Given the description of an element on the screen output the (x, y) to click on. 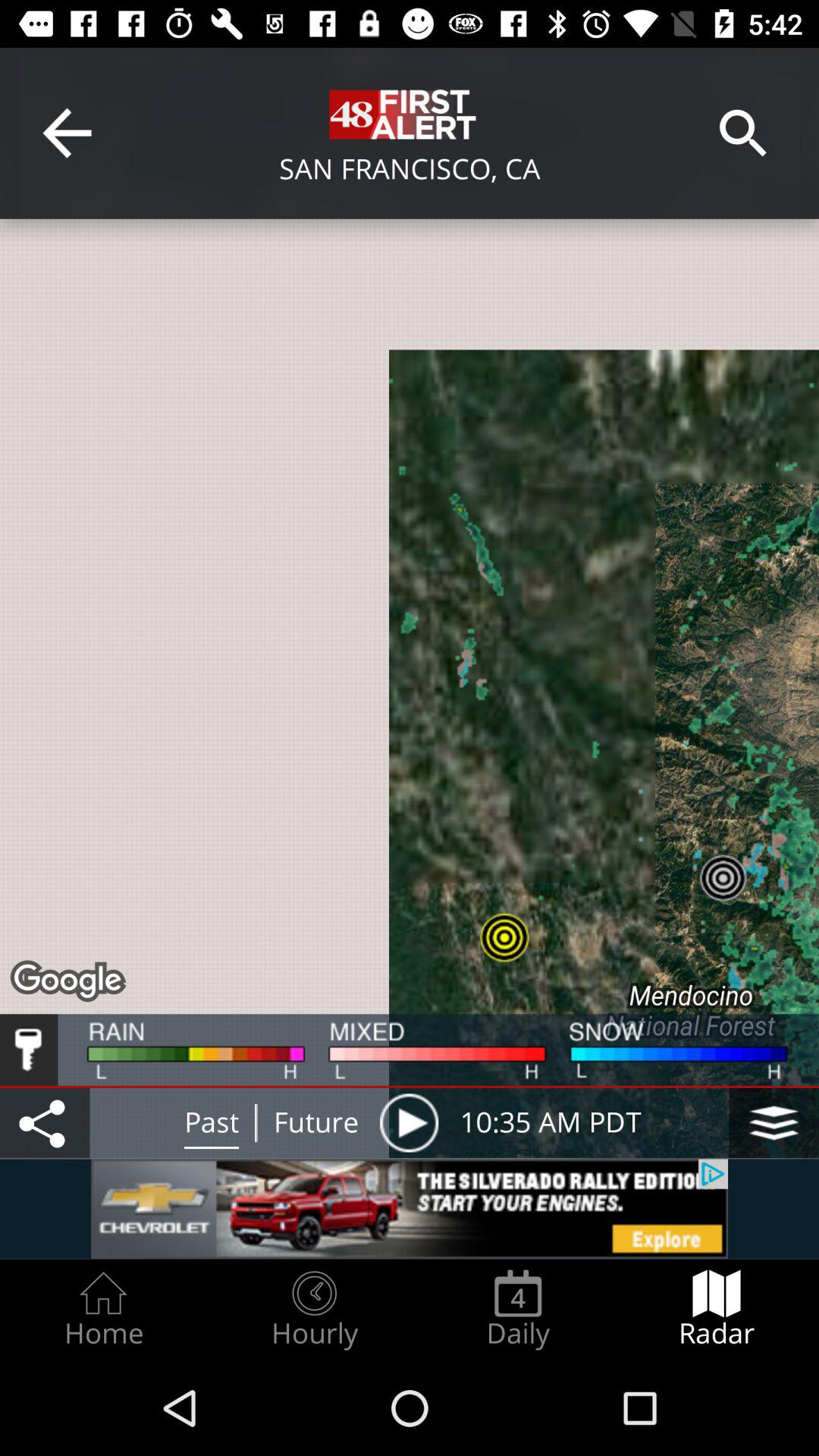
press radio button next to hourly (103, 1309)
